Given the description of an element on the screen output the (x, y) to click on. 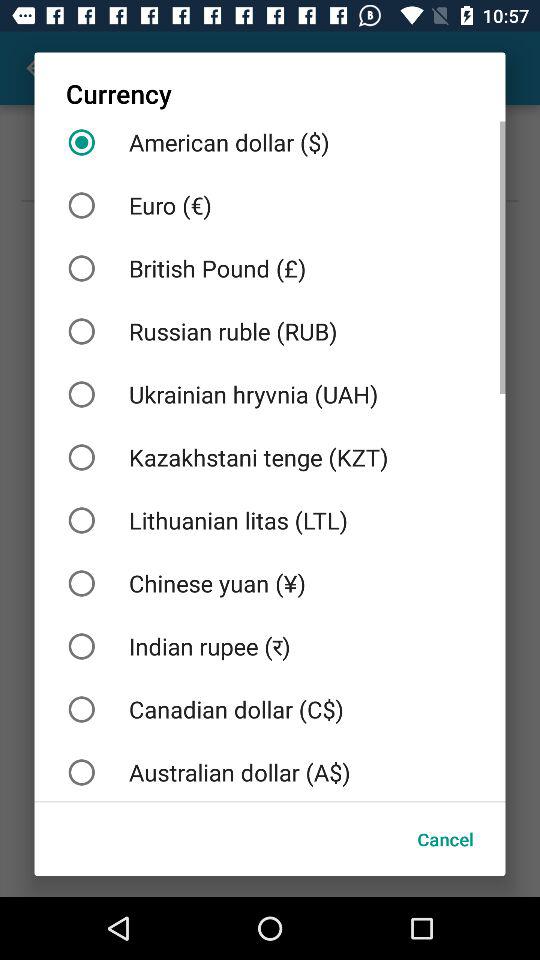
turn on item below australian dollar (a$) item (445, 838)
